Given the description of an element on the screen output the (x, y) to click on. 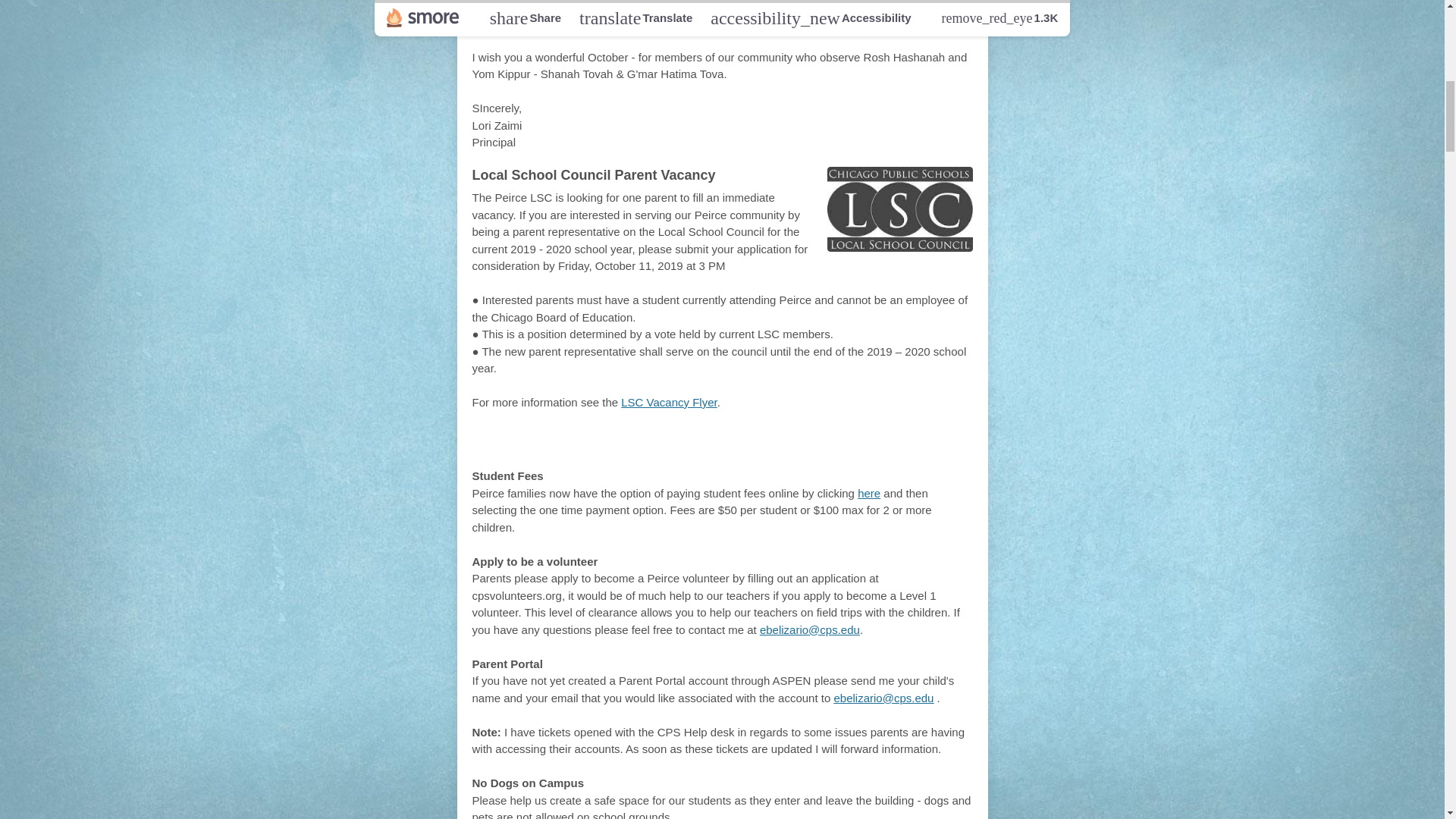
Office (678, 444)
Updates (754, 444)
here (868, 492)
LSC Vacancy Flyer (668, 401)
